Given the description of an element on the screen output the (x, y) to click on. 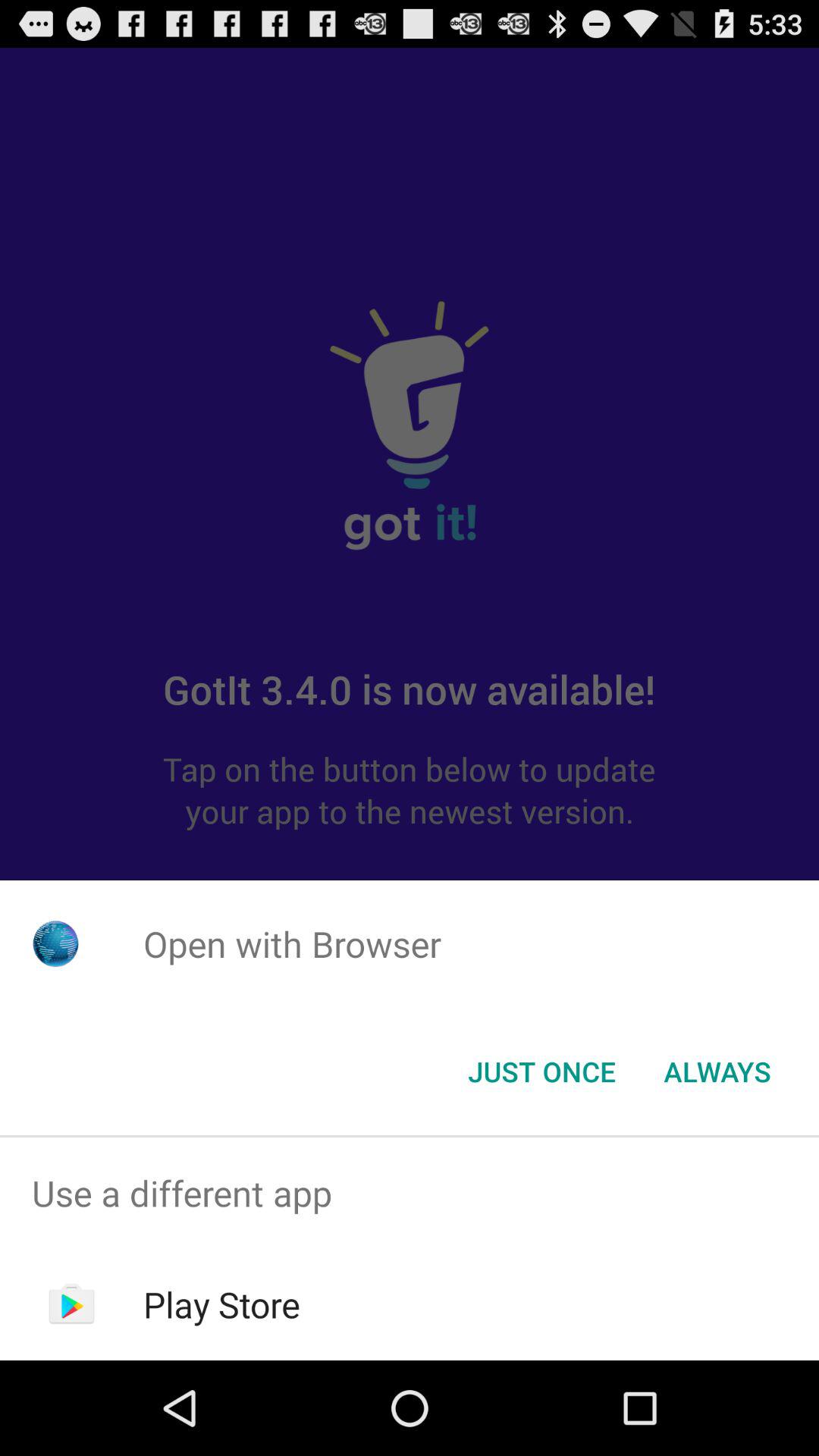
click app below open with browser app (717, 1071)
